Given the description of an element on the screen output the (x, y) to click on. 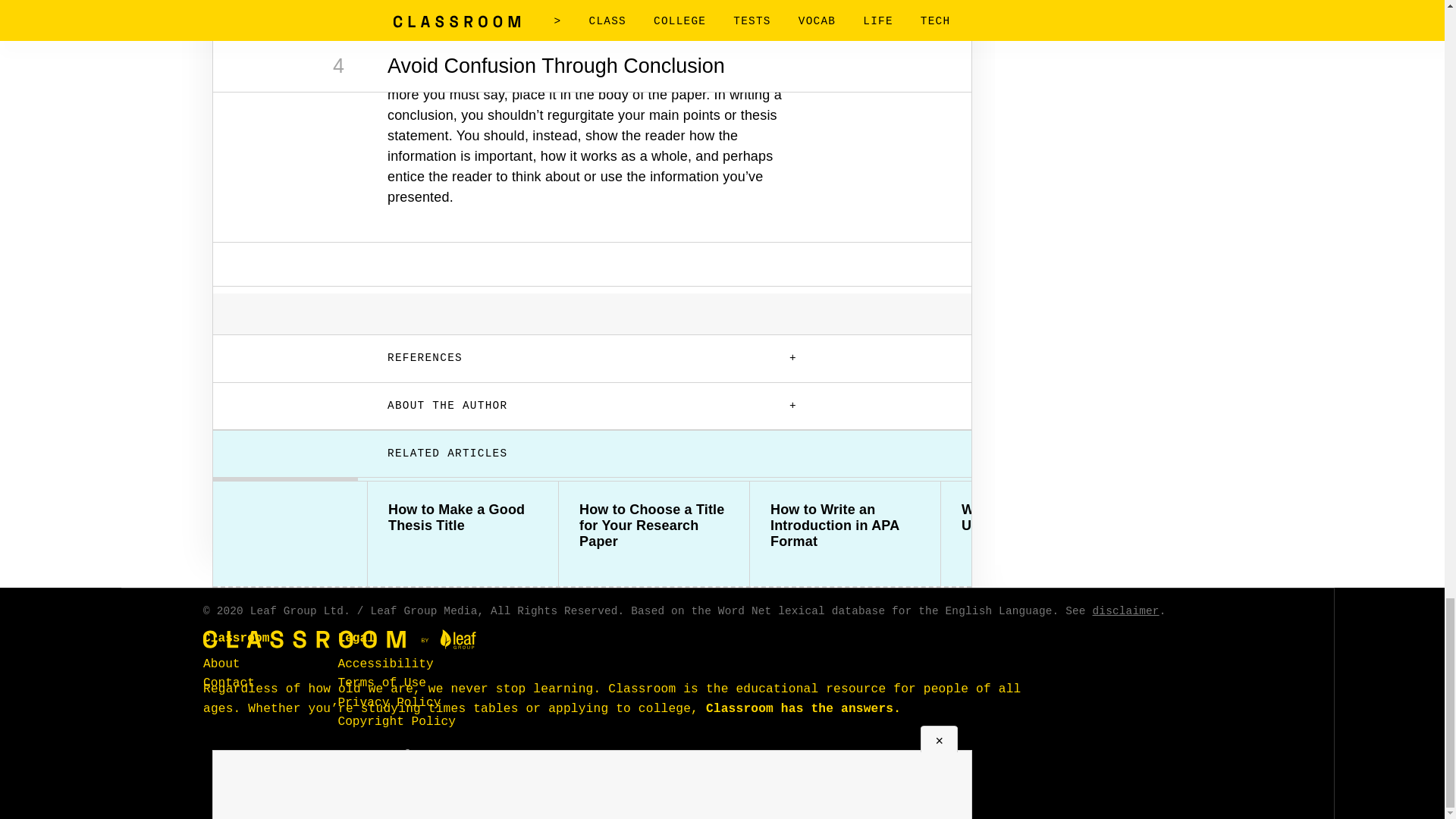
Contact (228, 683)
How to Choose a Title for Your Research Paper (654, 525)
How to Write an Introduction in APA Format (844, 525)
How to Make a Good Thesis Title (462, 517)
About (221, 663)
Ways to Write a Unique Essay (1035, 517)
How to Identify a Hypothesis (1227, 517)
Accessibility (384, 663)
